Given the description of an element on the screen output the (x, y) to click on. 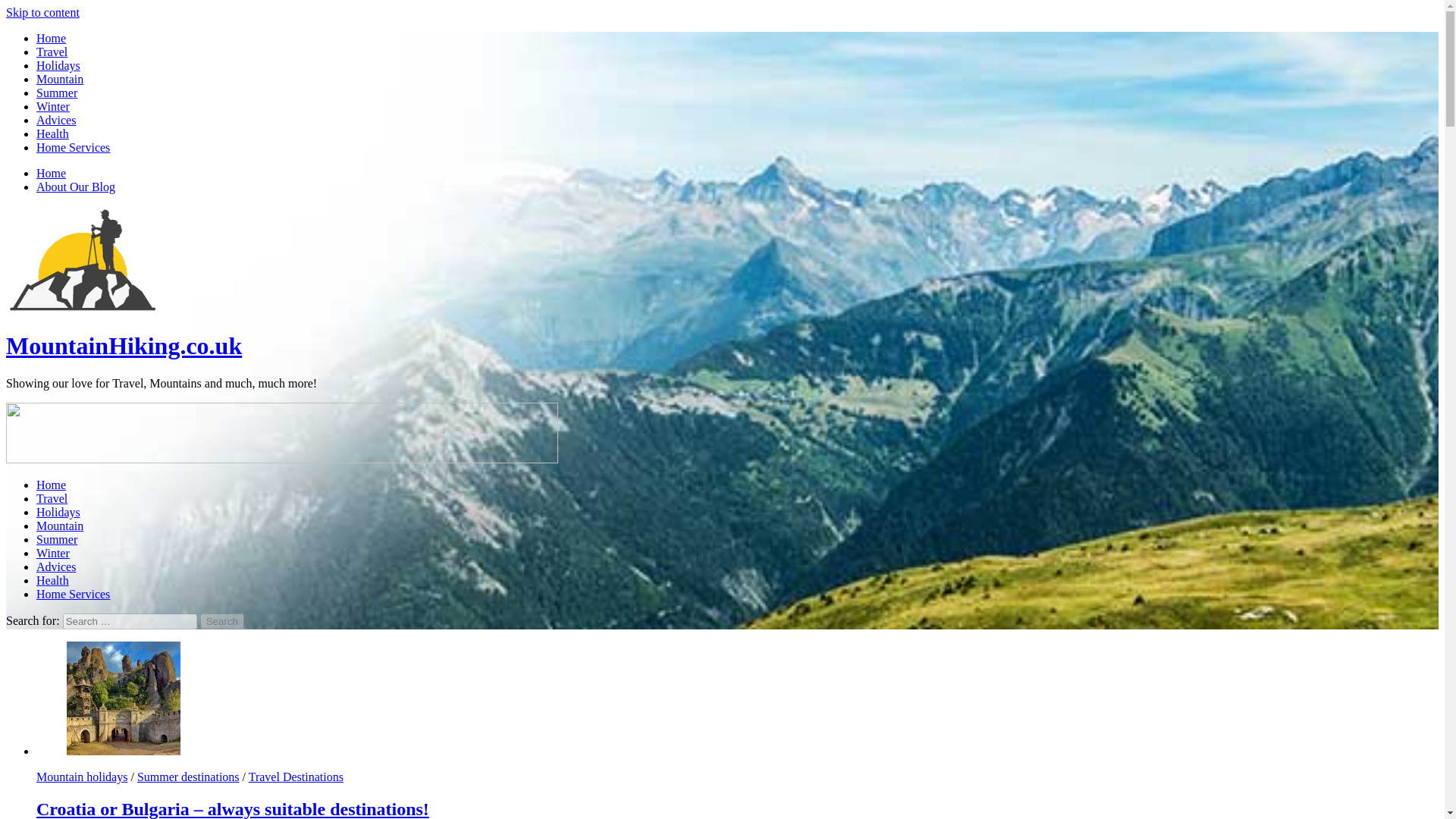
Mountain (59, 78)
Search (222, 621)
Home (50, 173)
Holidays (58, 65)
Travel (51, 498)
Travel Destinations (295, 776)
Advices (55, 119)
Summer (56, 539)
Health (52, 133)
Holidays (58, 512)
Travel (51, 51)
Home Services (73, 594)
Advices (55, 566)
Home Services (73, 146)
Winter (52, 553)
